Given the description of an element on the screen output the (x, y) to click on. 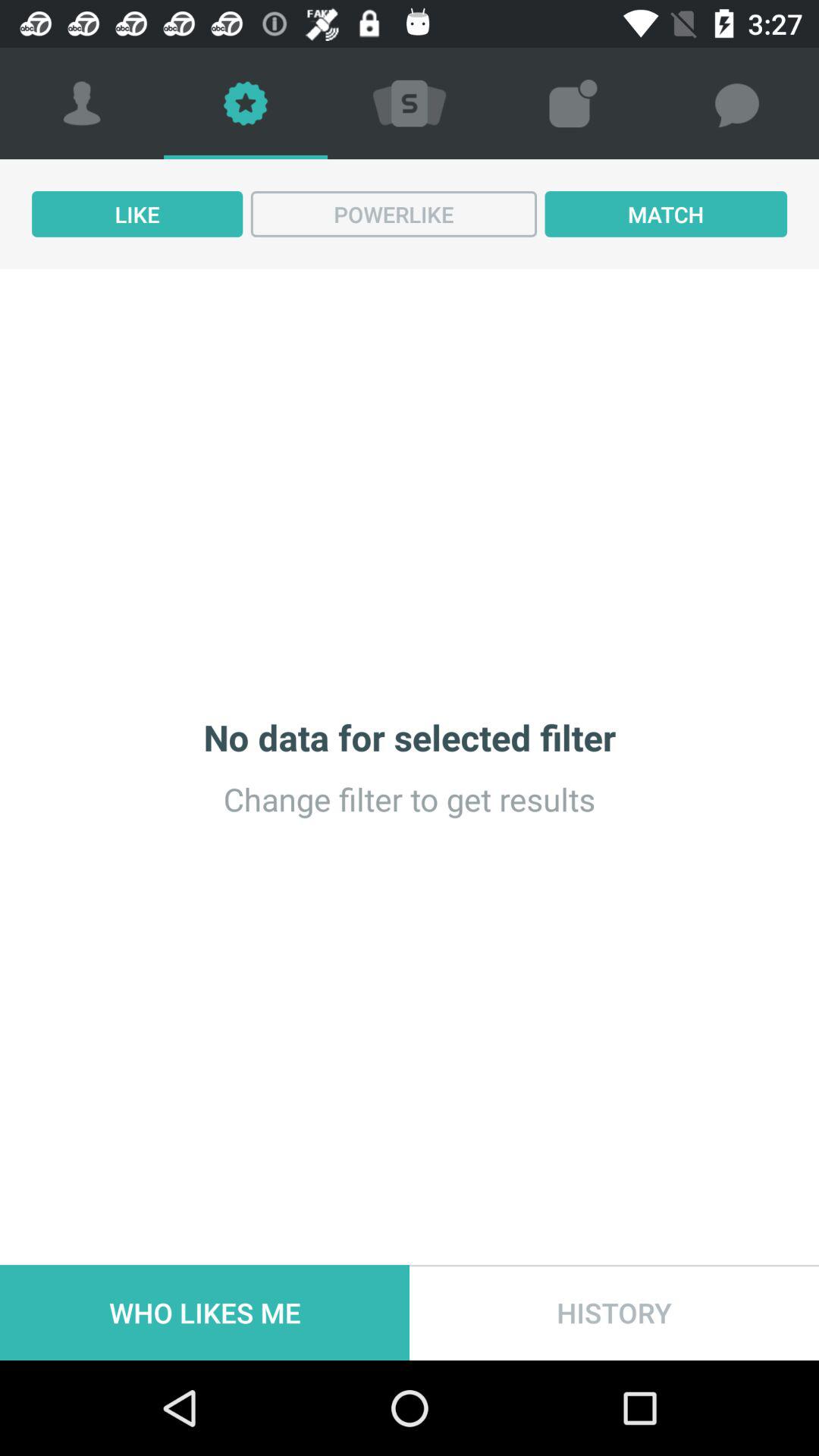
turn on the icon next to the history icon (204, 1312)
